Given the description of an element on the screen output the (x, y) to click on. 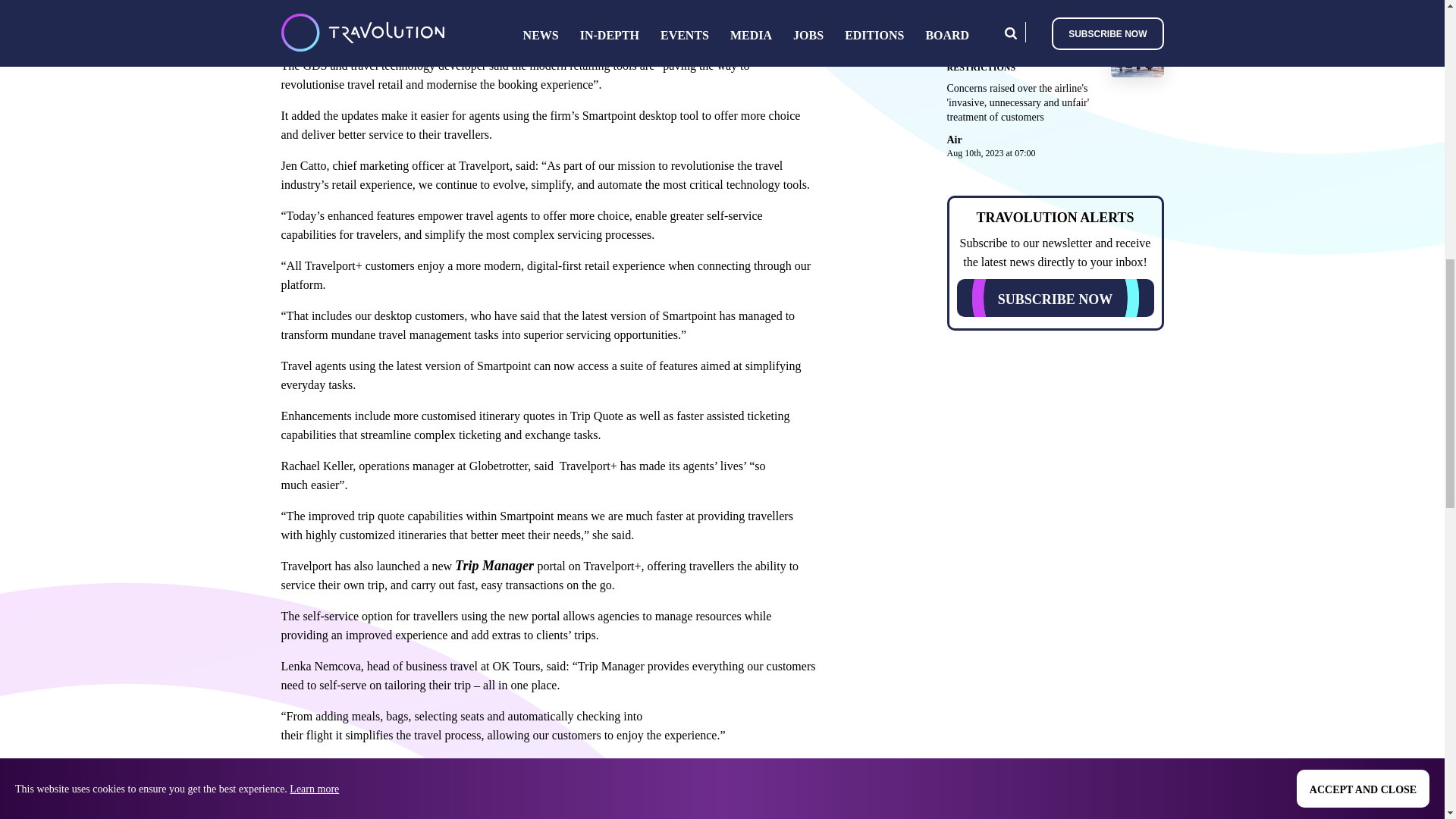
Travelport (306, 15)
